Given the description of an element on the screen output the (x, y) to click on. 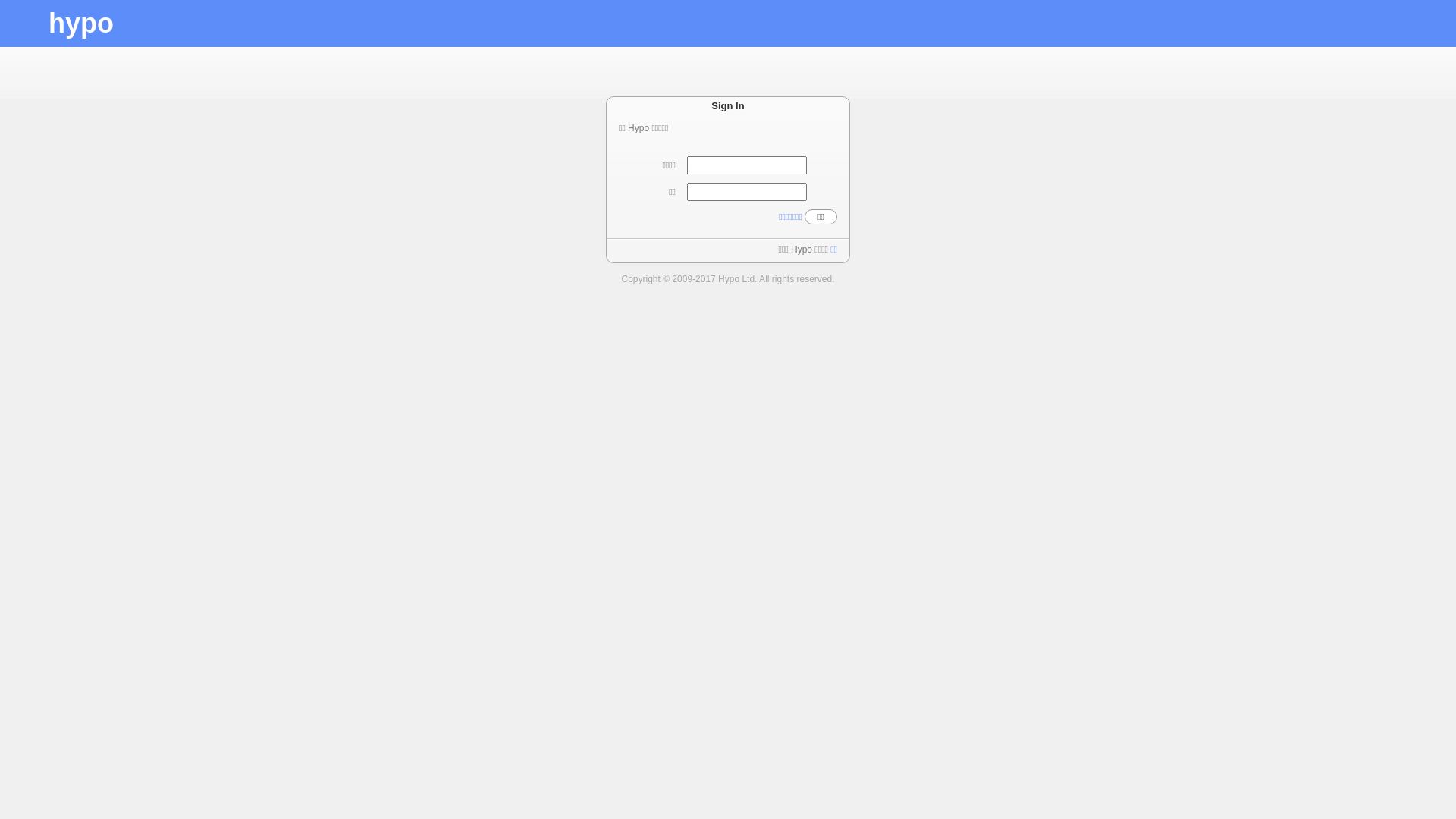
hypo Element type: text (80, 22)
